Given the description of an element on the screen output the (x, y) to click on. 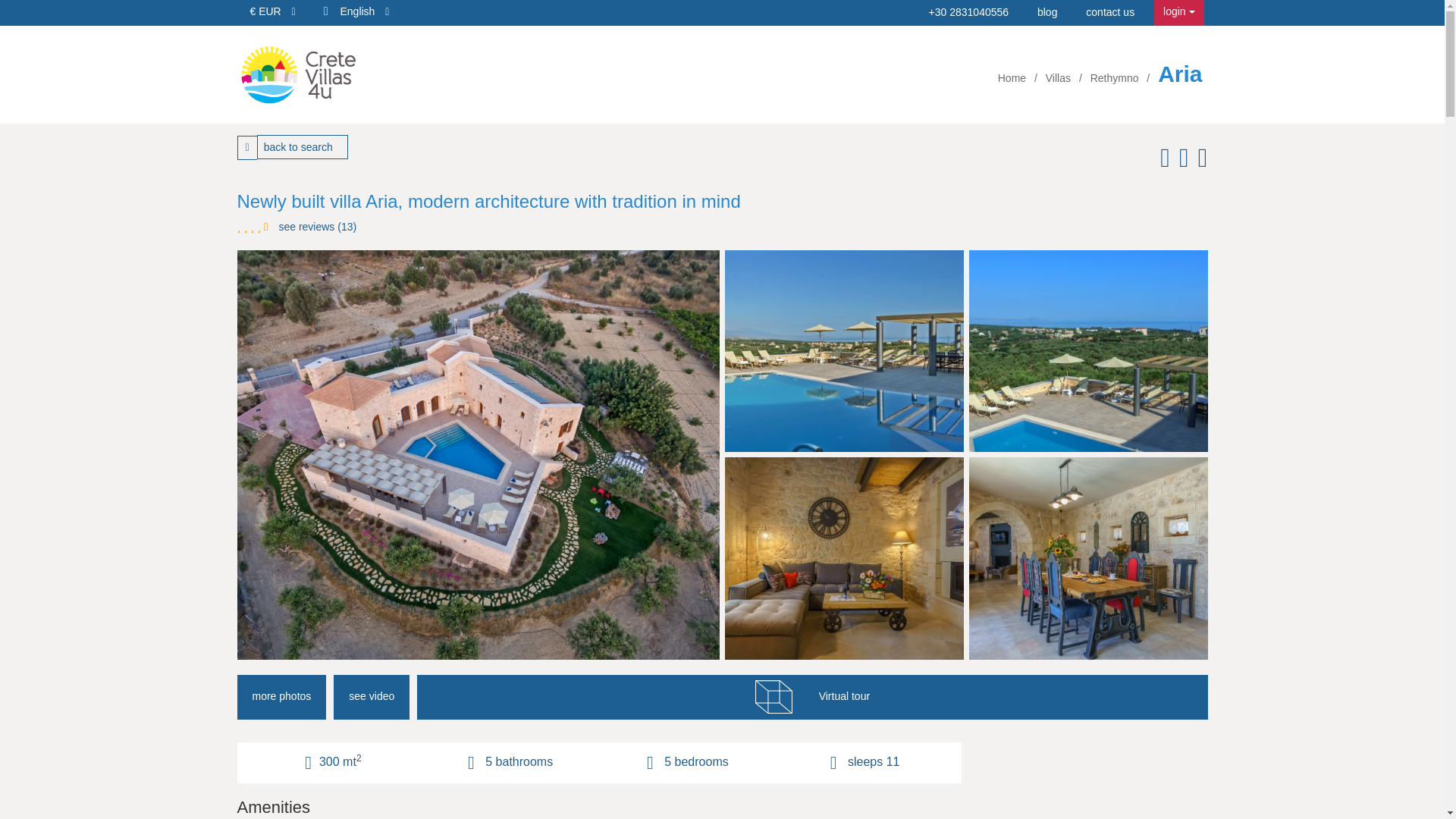
back to search (302, 146)
login (1179, 12)
Home (1013, 78)
English (363, 10)
Villas (1059, 78)
share this villa on facebook (1162, 162)
share on facebook (1162, 162)
contact us (1110, 11)
blog (1046, 11)
Rethymno (1115, 78)
